Given the description of an element on the screen output the (x, y) to click on. 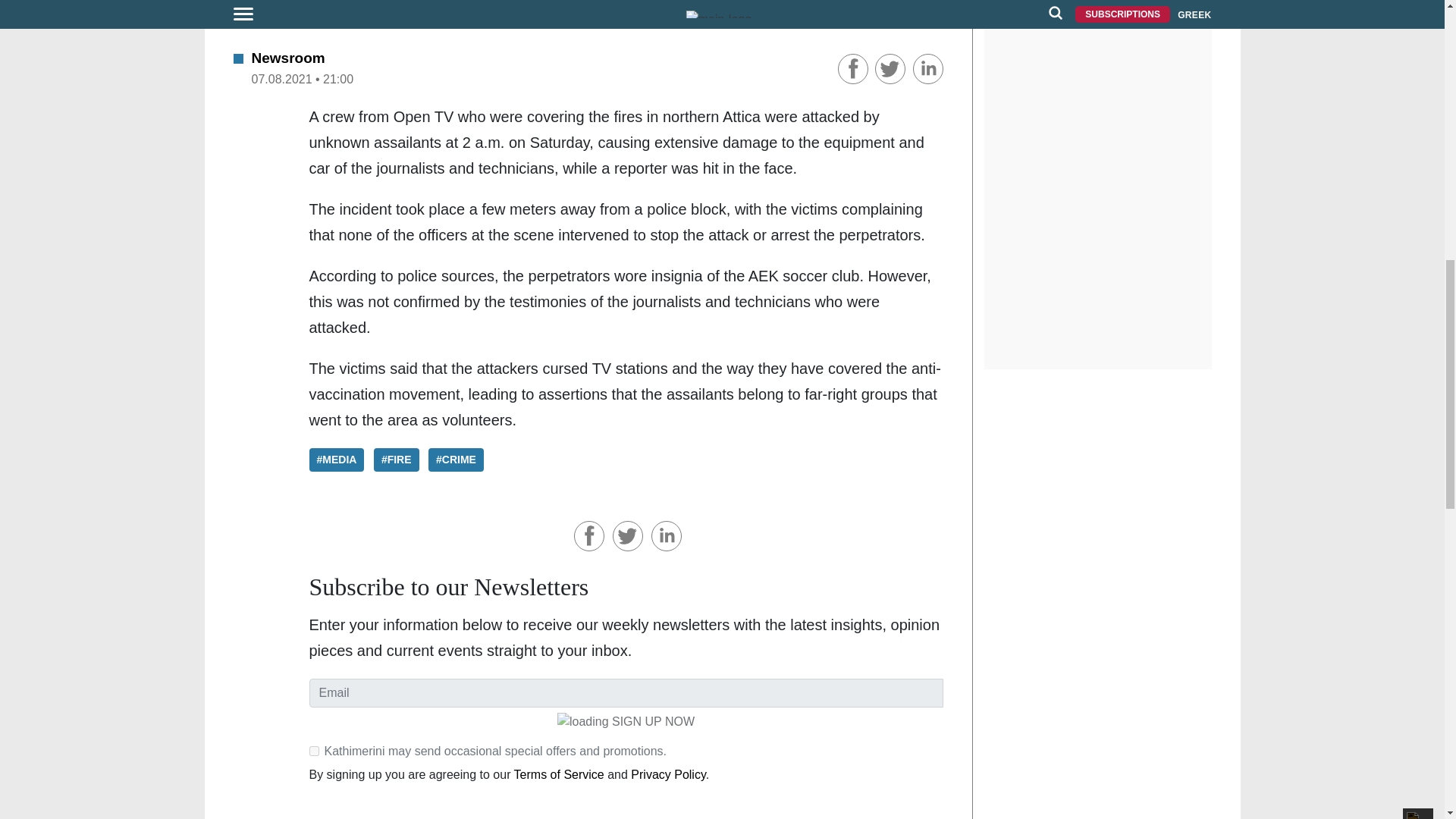
on (313, 750)
View all posts by Newsroom (287, 57)
